Given the description of an element on the screen output the (x, y) to click on. 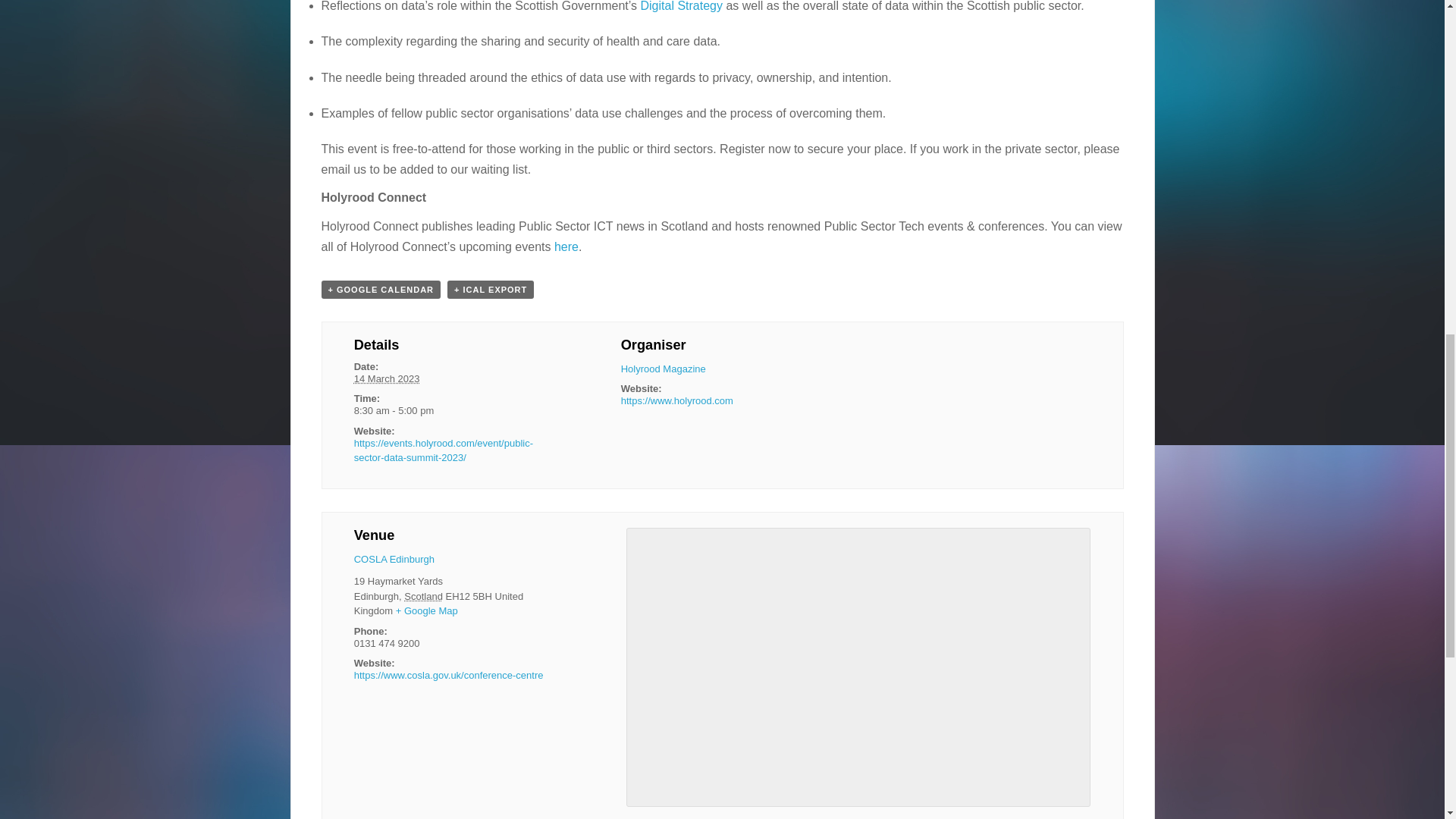
2023-03-14 (455, 410)
Add to Google Calendar (381, 289)
Holyrood Magazine (663, 368)
Holyrood Magazine (663, 368)
Click to view a Google Map (427, 610)
2023-03-14 (386, 378)
Scotland (423, 595)
COSLA Edinburgh (393, 559)
Download .ics file (490, 289)
Digital Strategy (681, 6)
